Given the description of an element on the screen output the (x, y) to click on. 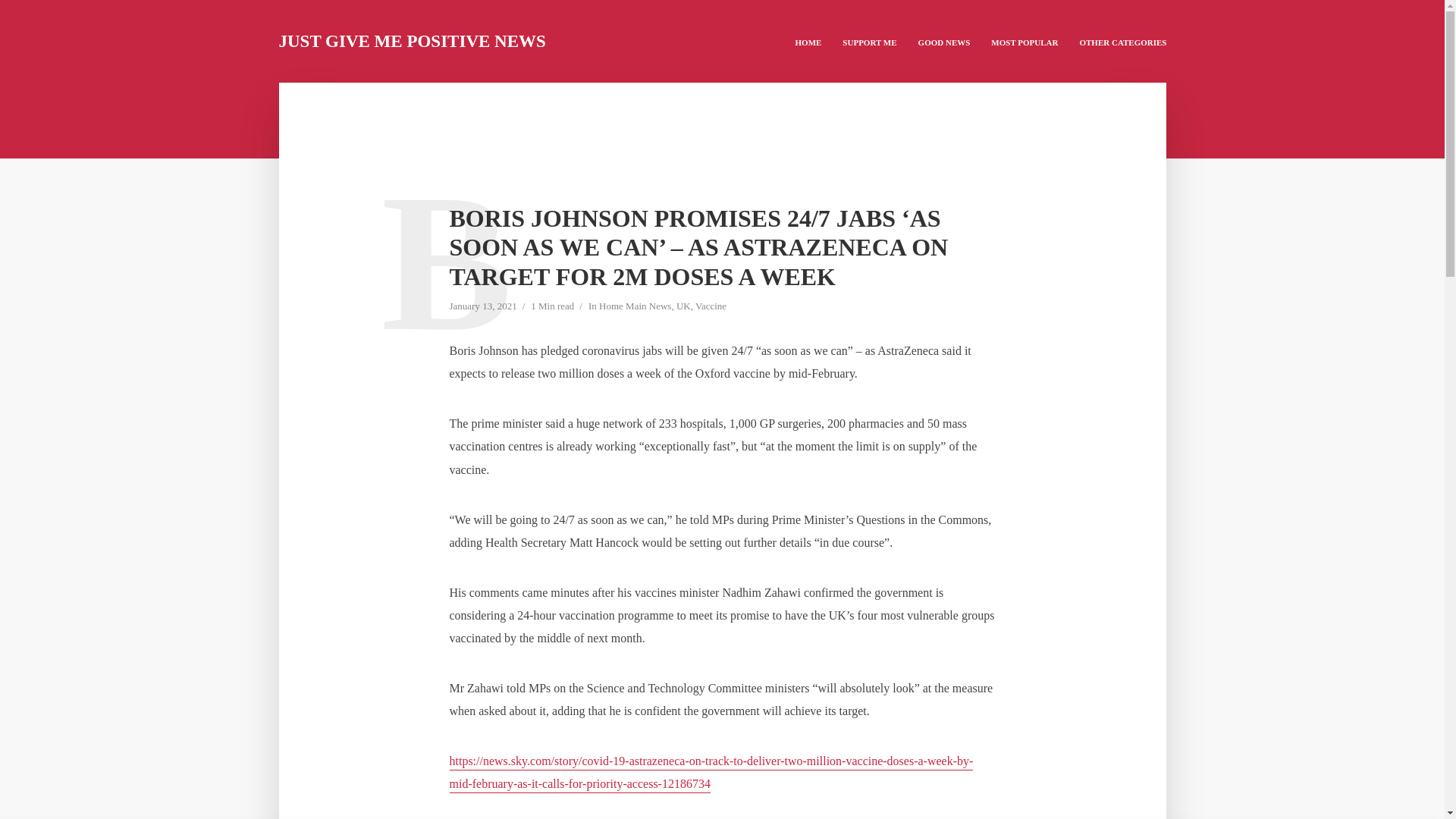
OTHER CATEGORIES (1122, 41)
HOME (808, 41)
SUPPORT ME (869, 41)
MOST POPULAR (1023, 41)
JUST GIVE ME POSITIVE NEWS (412, 40)
UK (683, 307)
Home Main News (634, 307)
GOOD NEWS (944, 41)
Vaccine (710, 307)
